Given the description of an element on the screen output the (x, y) to click on. 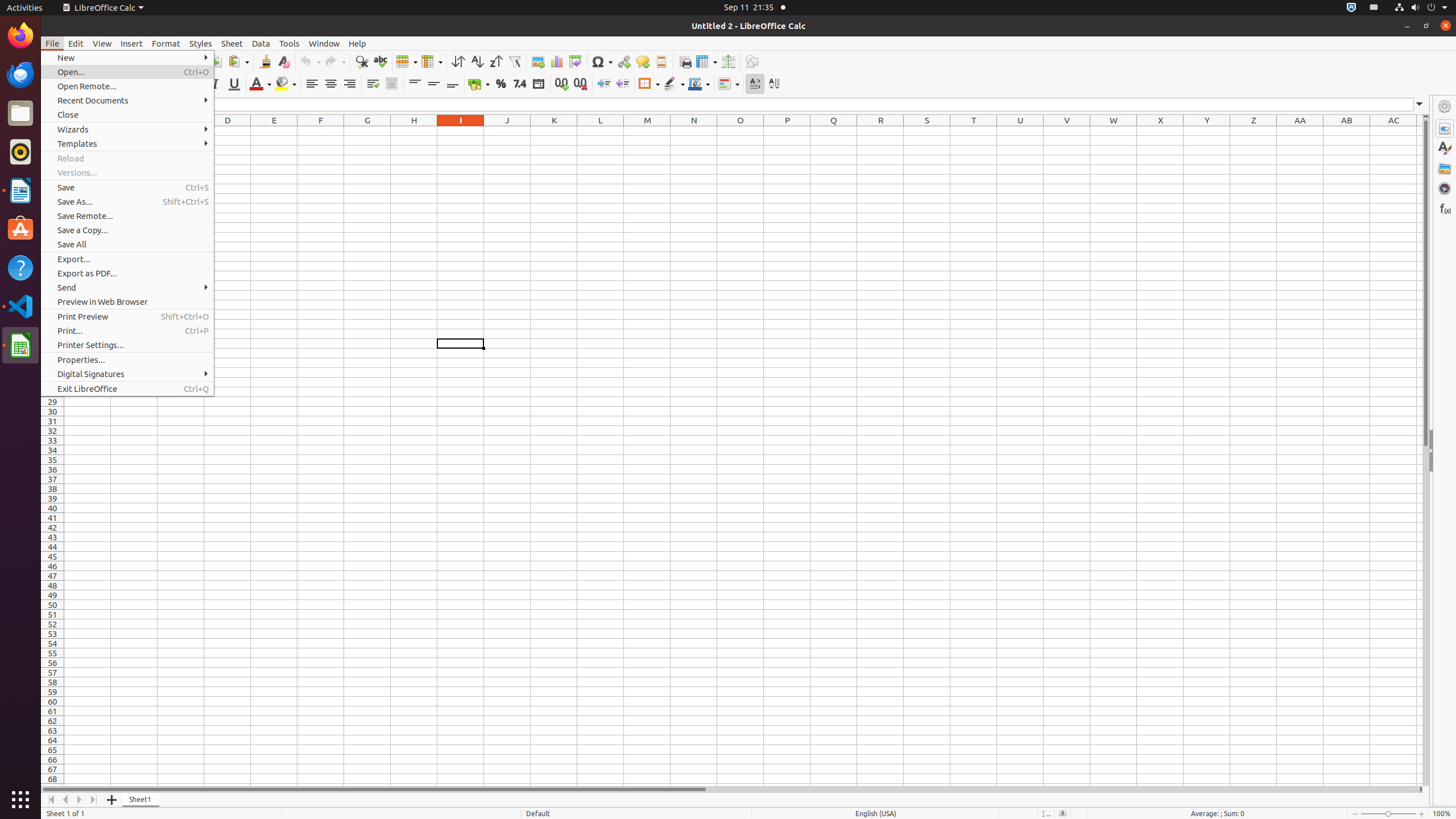
Reload Element type: menu-item (126, 158)
Export as PDF... Element type: menu-item (126, 273)
Pivot Table Element type: push-button (574, 61)
Send Element type: menu (126, 287)
O1 Element type: table-cell (740, 130)
